Given the description of an element on the screen output the (x, y) to click on. 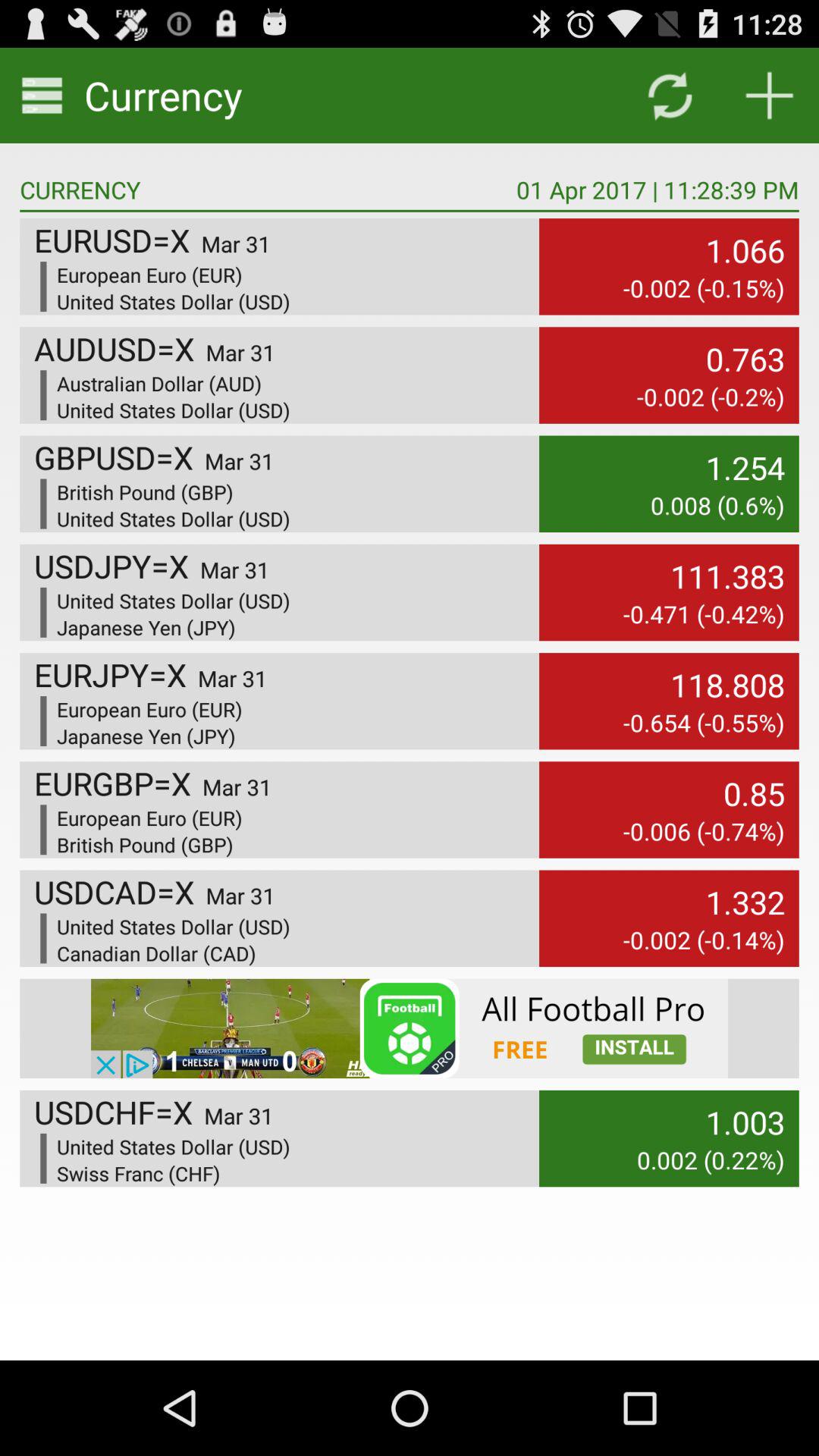
sync button (669, 95)
